Given the description of an element on the screen output the (x, y) to click on. 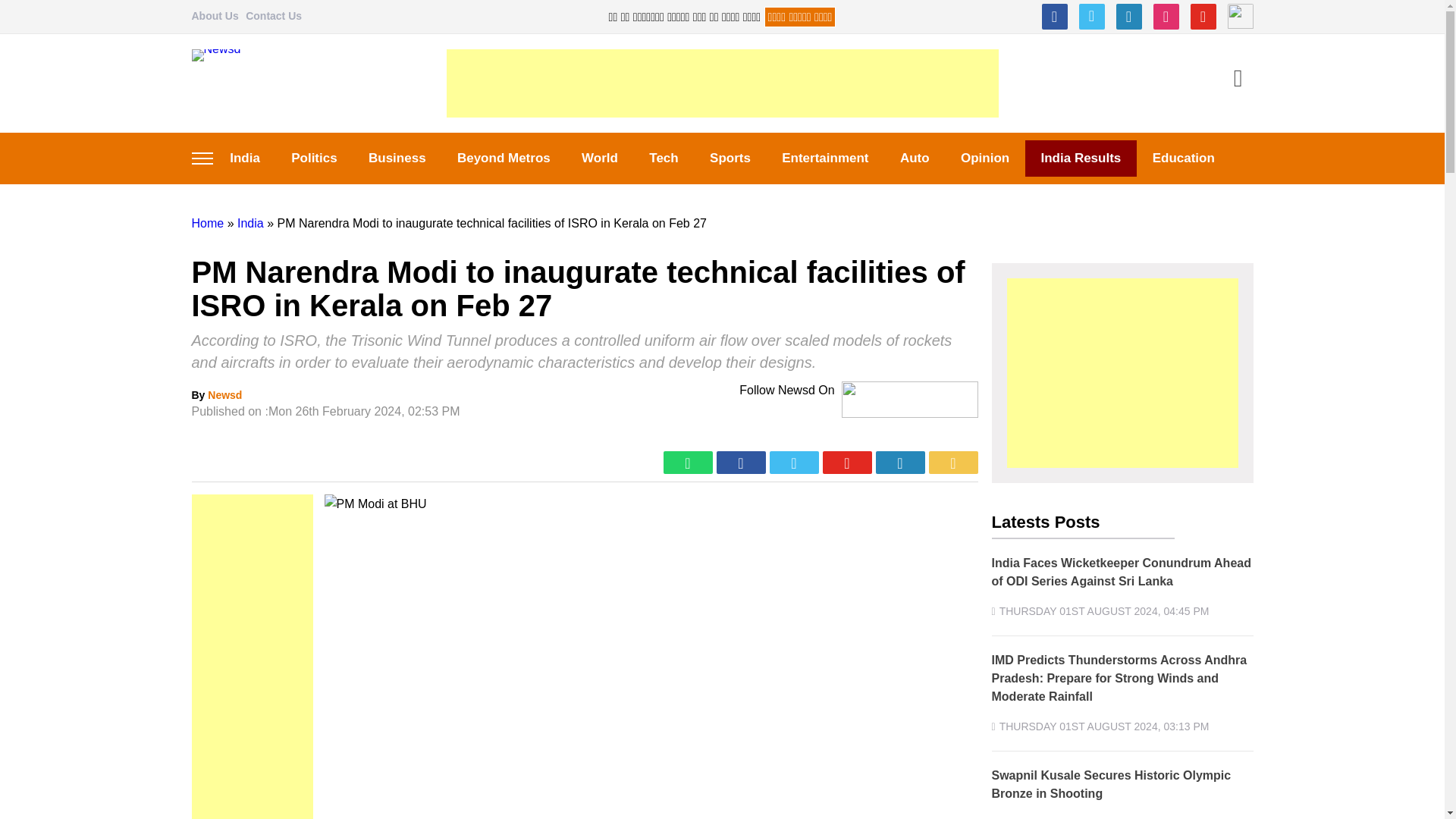
India Results (1081, 158)
Advertisement (721, 83)
Facebook (1054, 16)
Politics (314, 158)
Opinion (984, 158)
Youtube (1203, 16)
Entertainment (826, 158)
Twitter (1090, 16)
Auto (913, 158)
Education (1183, 158)
Tech (663, 158)
Home (207, 223)
India (244, 158)
Google Follow (1239, 16)
About Us (214, 15)
